Given the description of an element on the screen output the (x, y) to click on. 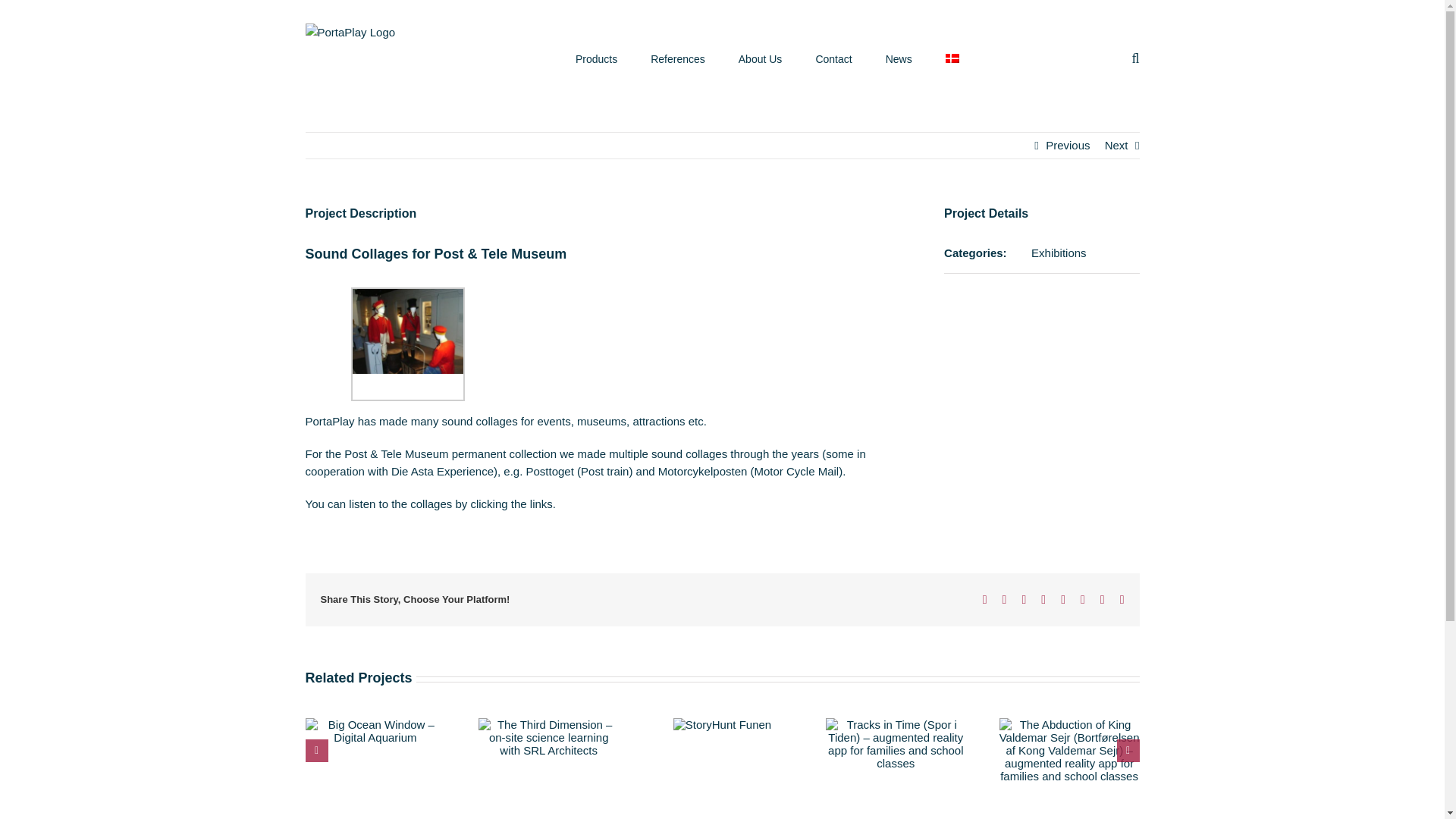
Next (1116, 145)
Motorcykelposten (703, 471)
Exhibitions (1058, 252)
Previous (1067, 145)
Posttoget (549, 471)
